Given the description of an element on the screen output the (x, y) to click on. 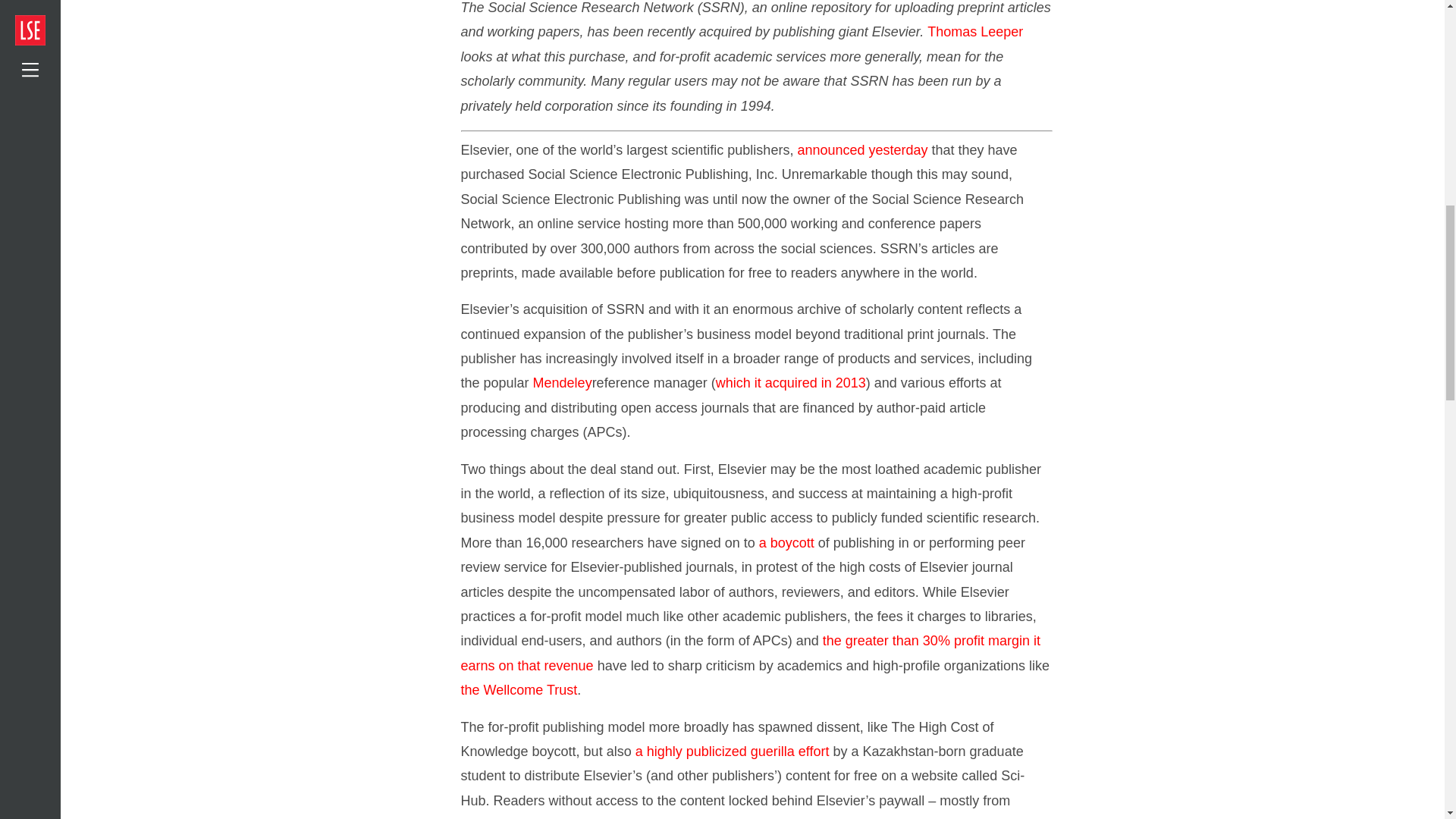
announced yesterday (861, 150)
a boycott (785, 542)
the Wellcome Trust (519, 689)
a highly publicized guerilla effort (731, 751)
which it acquired in 2013 (791, 382)
Thomas Leeper (975, 31)
Mendeley (562, 382)
